Given the description of an element on the screen output the (x, y) to click on. 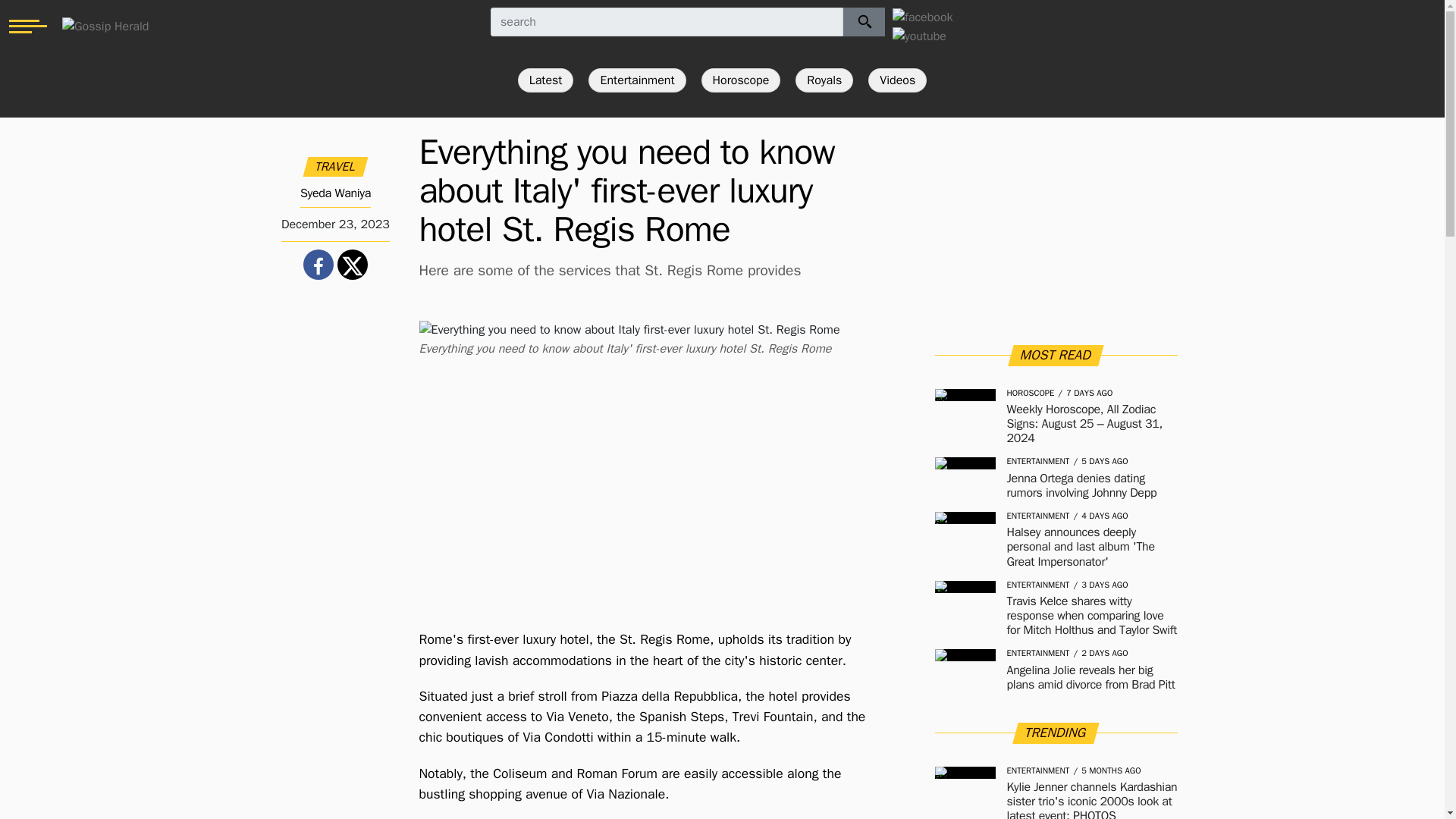
Videos (896, 79)
Horoscope (740, 79)
Entertainment (636, 79)
Latest (545, 79)
Horoscope (740, 79)
TRAVEL (335, 166)
Gossip Herald (105, 26)
Gossip Herald (105, 25)
Entertainment (636, 79)
Royals (823, 79)
